Given the description of an element on the screen output the (x, y) to click on. 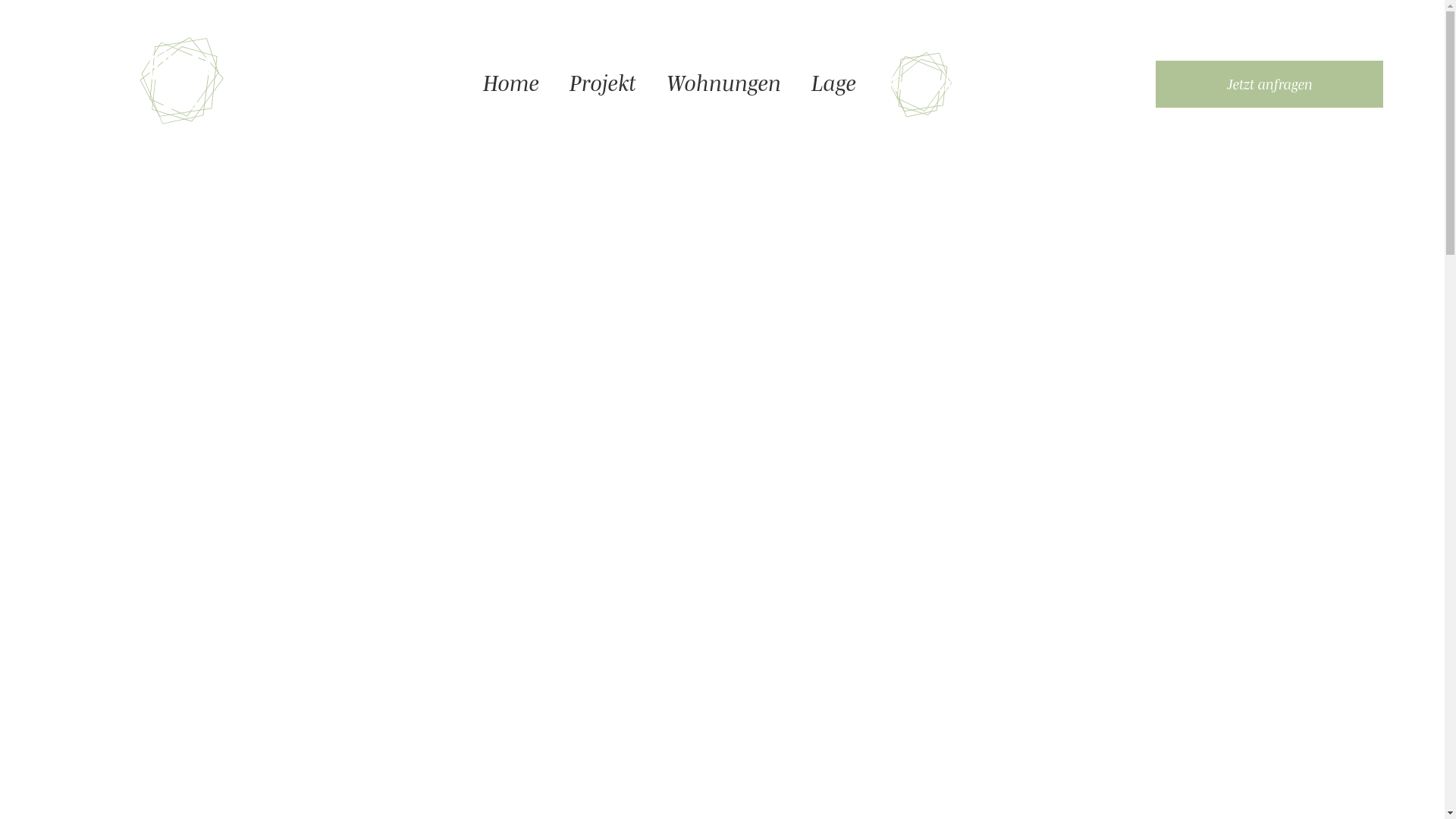
Kontakt Element type: text (923, 80)
Lage Element type: text (833, 80)
Home Element type: text (510, 80)
Jetzt anfragen Element type: text (1269, 83)
Wohnungen Element type: text (723, 80)
Projekt Element type: text (602, 80)
